Given the description of an element on the screen output the (x, y) to click on. 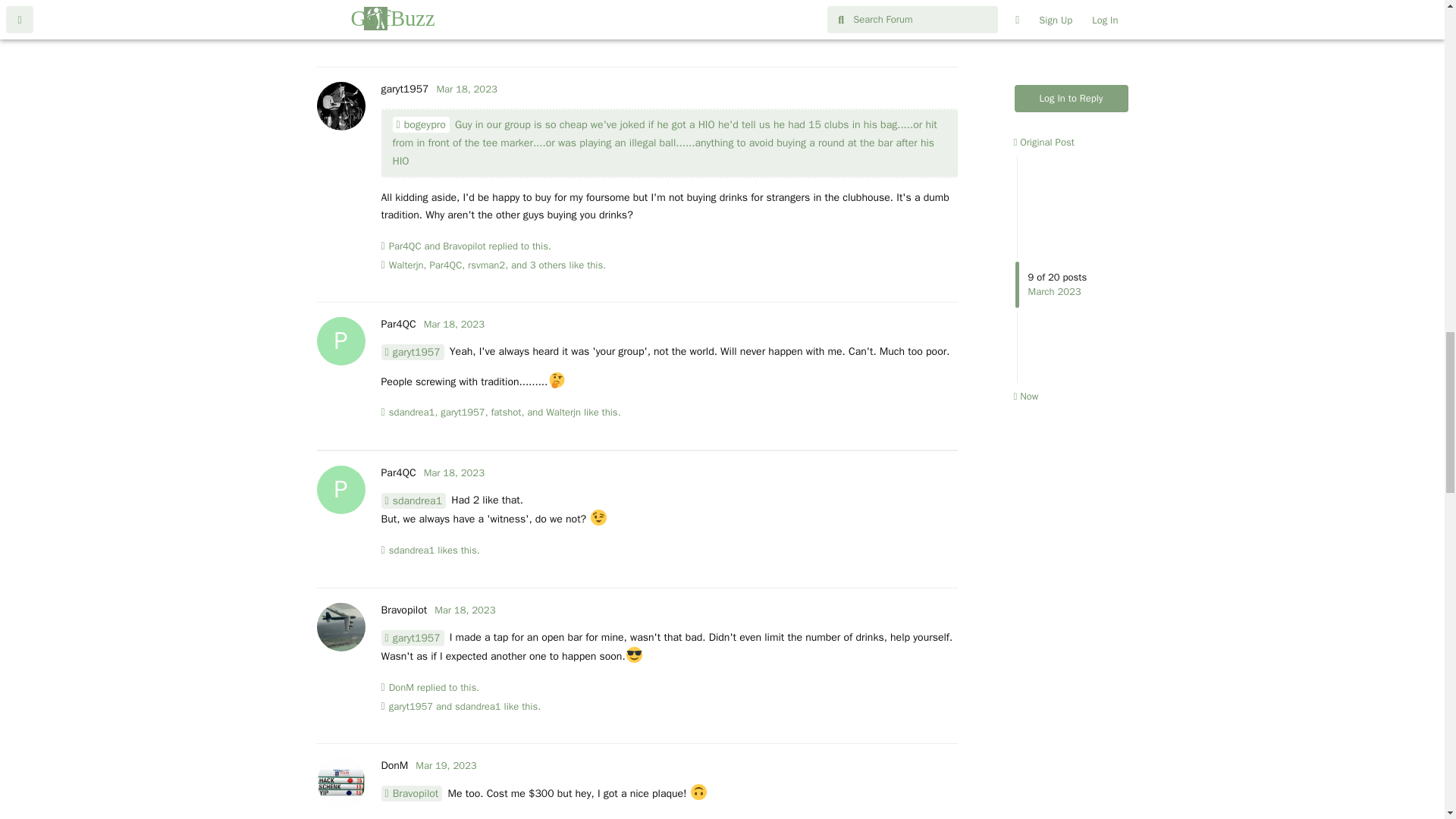
Saturday, March 18, 2023 10:59 PM (465, 88)
Saturday, March 18, 2023 11:24 PM (464, 609)
Saturday, March 18, 2023 11:23 PM (453, 472)
Sunday, March 19, 2023 6:15 AM (445, 765)
Saturday, March 18, 2023 11:22 PM (453, 323)
